Given the description of an element on the screen output the (x, y) to click on. 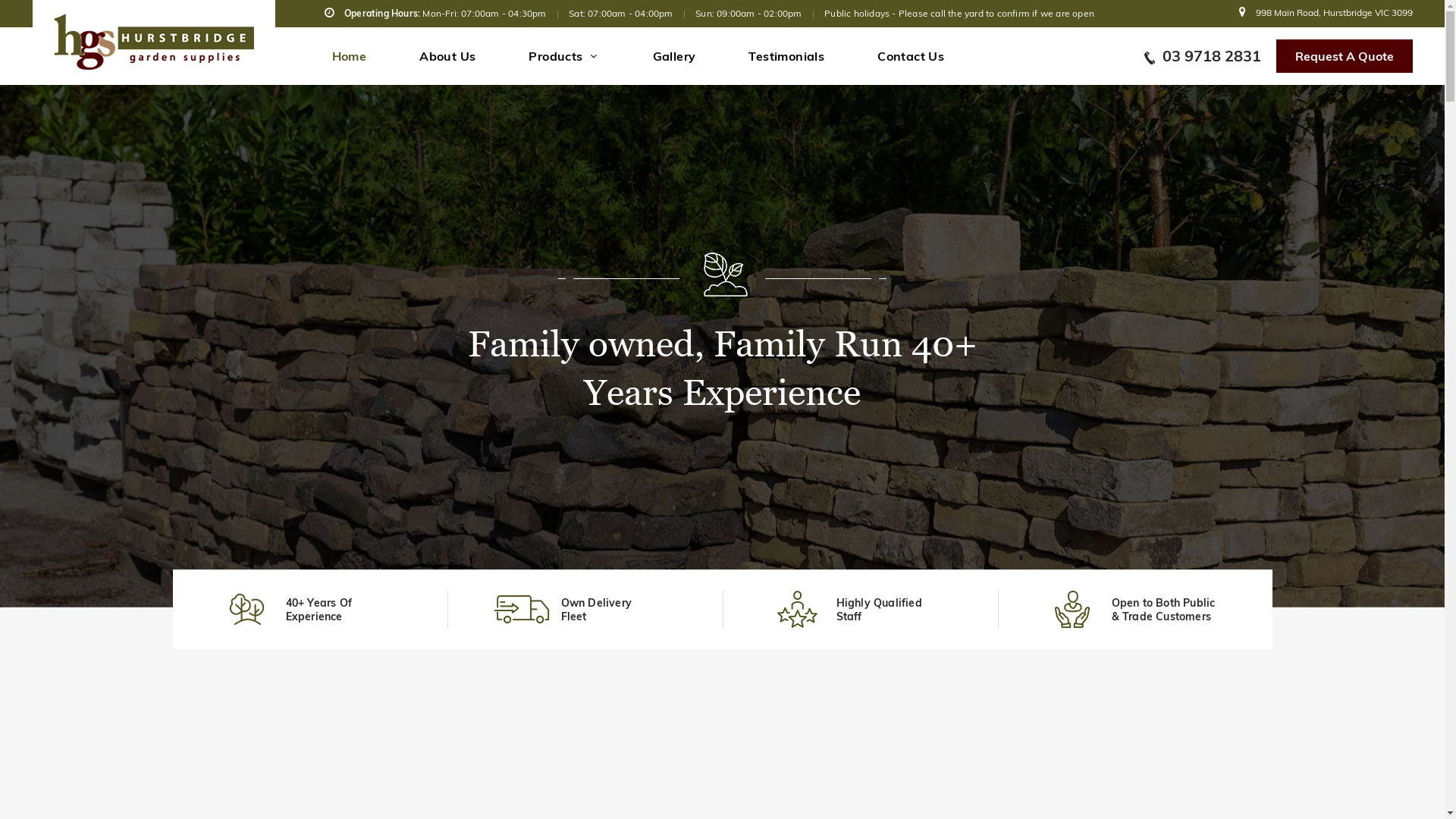
Contact Us Element type: text (910, 56)
Products Element type: text (563, 56)
Home Element type: text (349, 56)
Request A Quote Element type: text (1343, 55)
About Us Element type: text (447, 56)
Gallery Element type: text (674, 56)
Testimonials Element type: text (786, 56)
03 9718 2831 Element type: text (1201, 55)
